Given the description of an element on the screen output the (x, y) to click on. 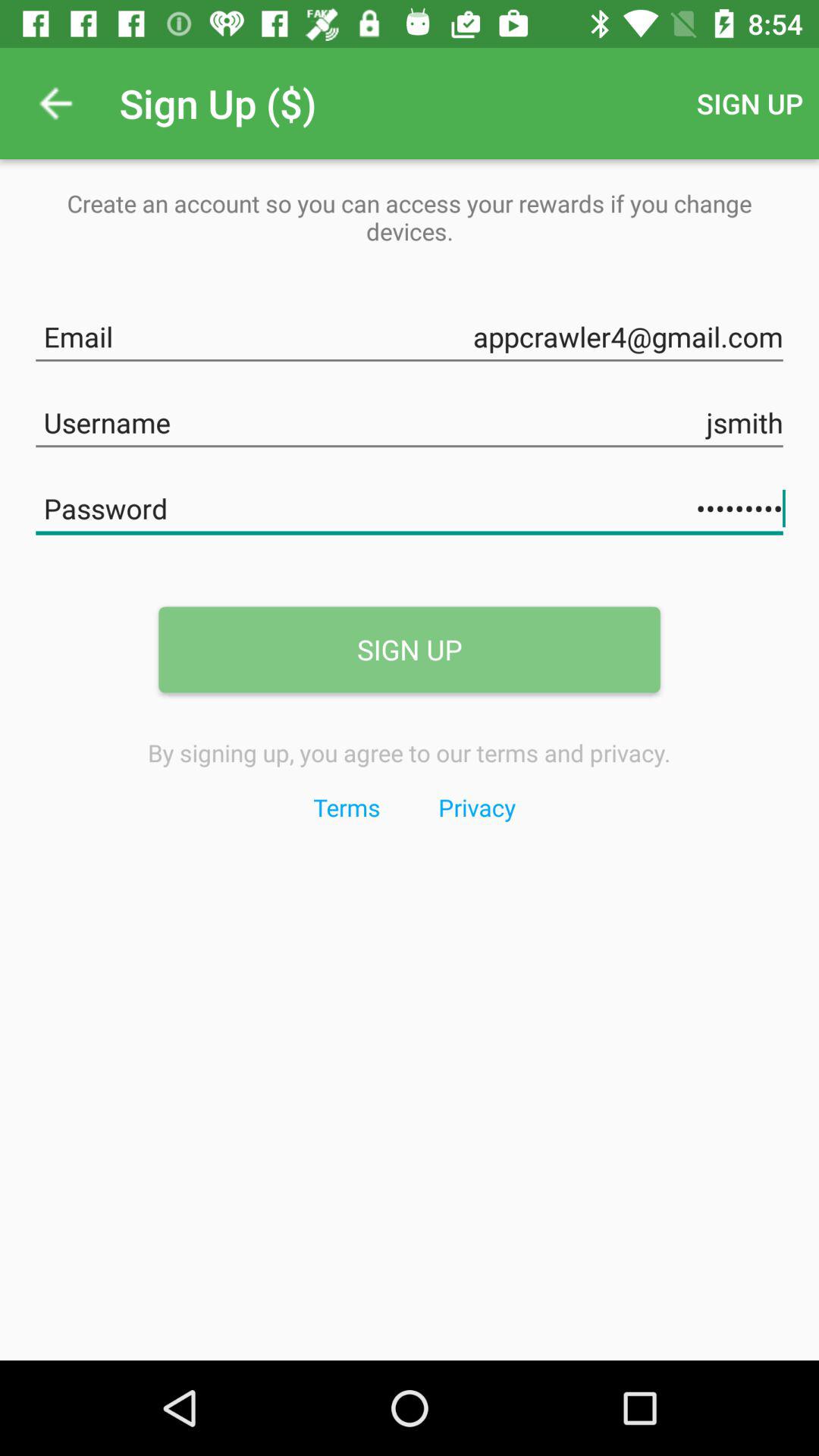
tap the icon below the jsmith icon (409, 505)
